Given the description of an element on the screen output the (x, y) to click on. 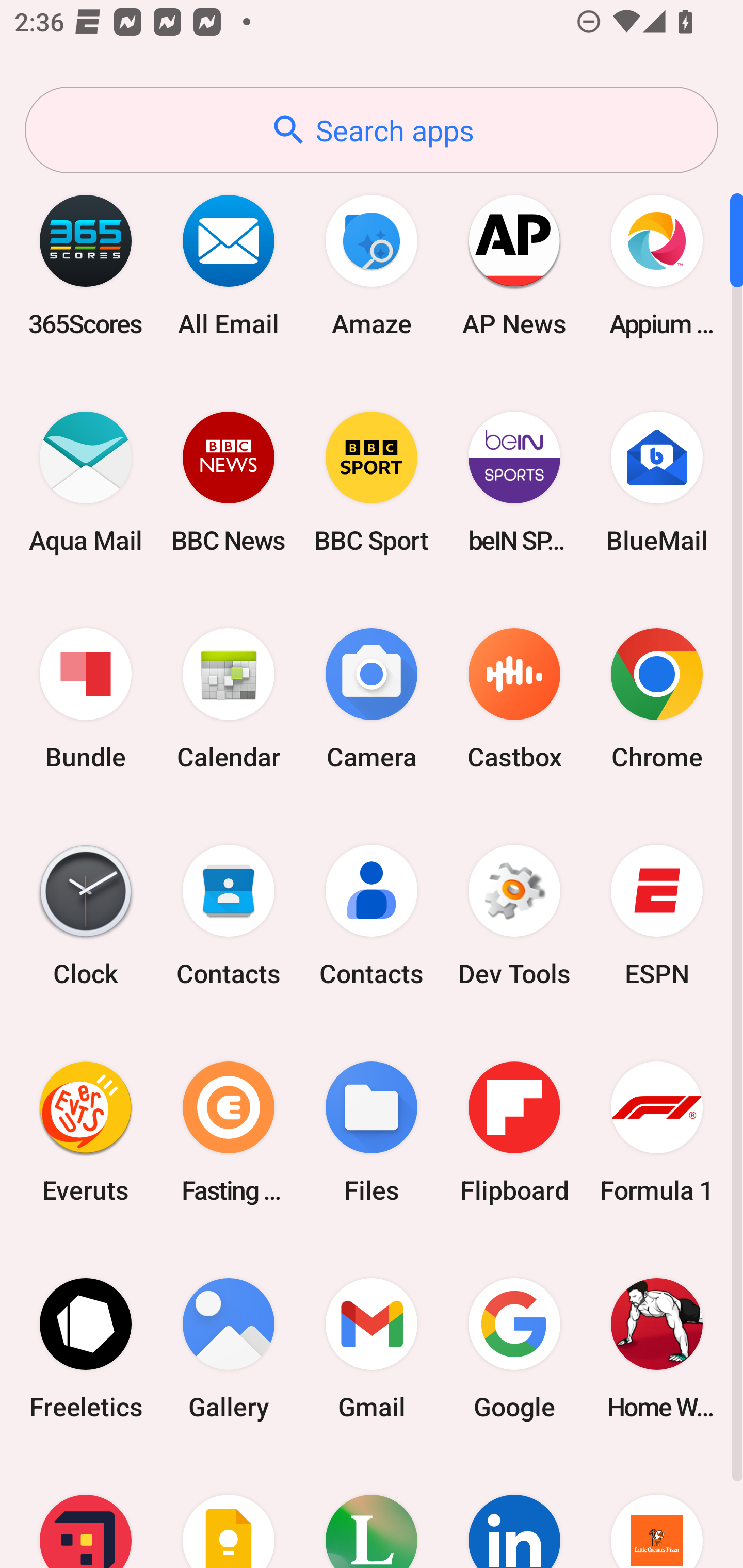
  Search apps (371, 130)
365Scores (85, 264)
All Email (228, 264)
Amaze (371, 264)
AP News (514, 264)
Appium Settings (656, 264)
Aqua Mail (85, 482)
BBC News (228, 482)
BBC Sport (371, 482)
beIN SPORTS (514, 482)
BlueMail (656, 482)
Bundle (85, 699)
Calendar (228, 699)
Camera (371, 699)
Castbox (514, 699)
Chrome (656, 699)
Clock (85, 915)
Contacts (228, 915)
Contacts (371, 915)
Dev Tools (514, 915)
ESPN (656, 915)
Everuts (85, 1131)
Fasting Coach (228, 1131)
Files (371, 1131)
Flipboard (514, 1131)
Formula 1 (656, 1131)
Freeletics (85, 1348)
Gallery (228, 1348)
Gmail (371, 1348)
Google (514, 1348)
Home Workout (656, 1348)
Hotels.com (85, 1512)
Keep Notes (228, 1512)
Lifesum (371, 1512)
LinkedIn (514, 1512)
Little Caesars Pizza (656, 1512)
